Given the description of an element on the screen output the (x, y) to click on. 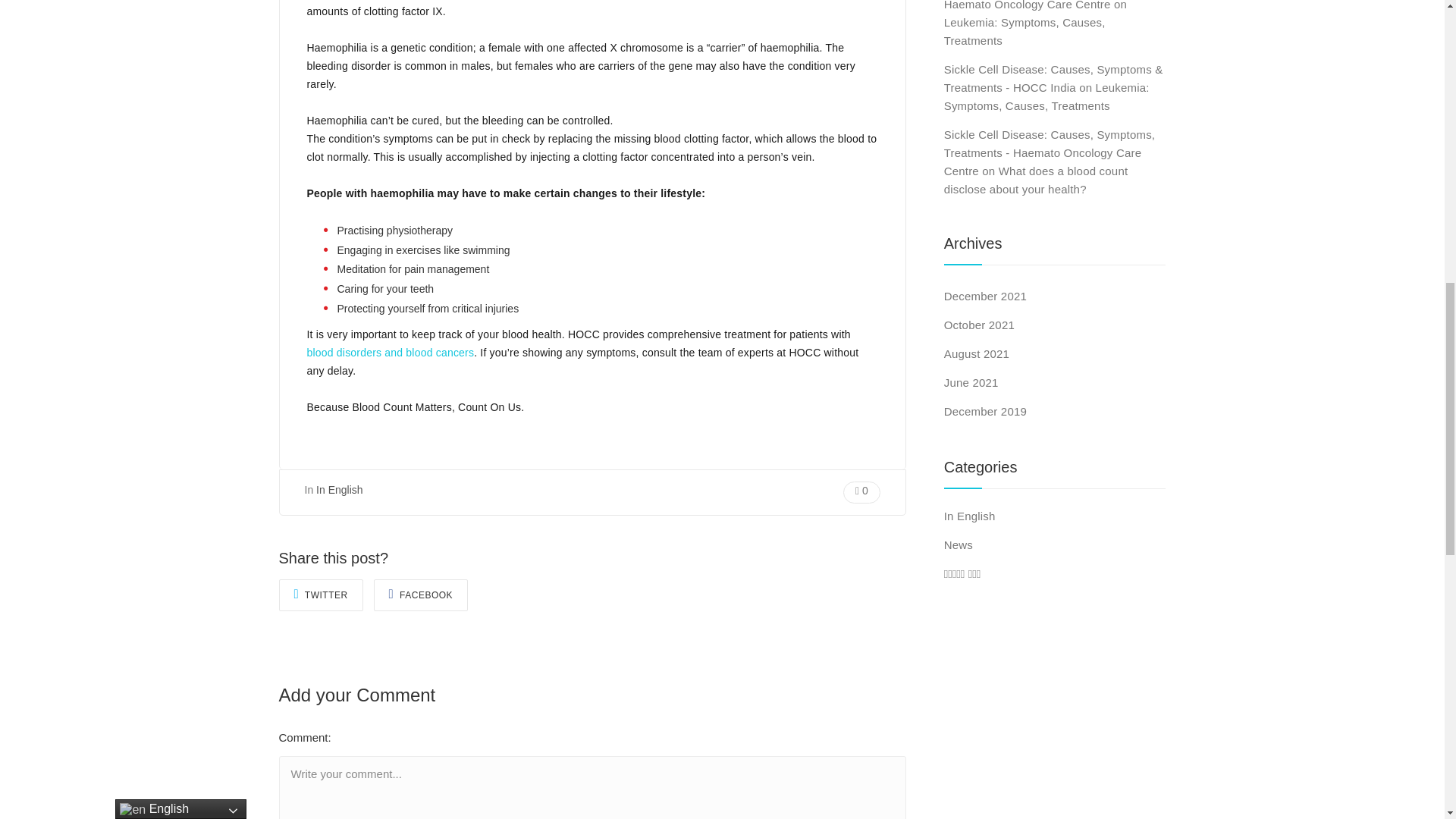
Share On Facebook (421, 594)
Share On Twitter (320, 594)
blood disorders and blood cancers (389, 352)
